Given the description of an element on the screen output the (x, y) to click on. 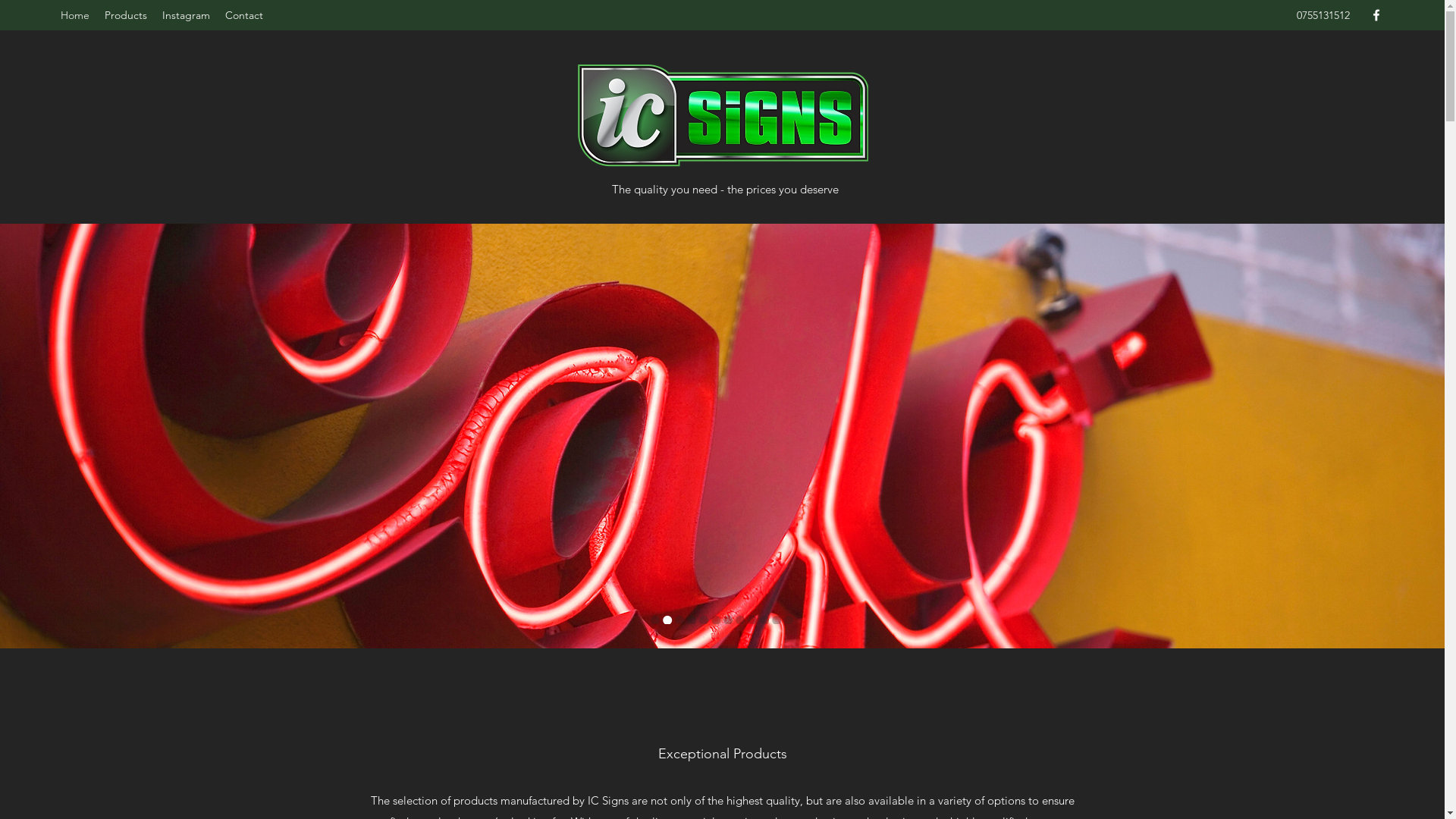
Products Element type: text (125, 14)
Home Element type: text (75, 14)
Instagram Element type: text (185, 14)
Contact Element type: text (243, 14)
